Given the description of an element on the screen output the (x, y) to click on. 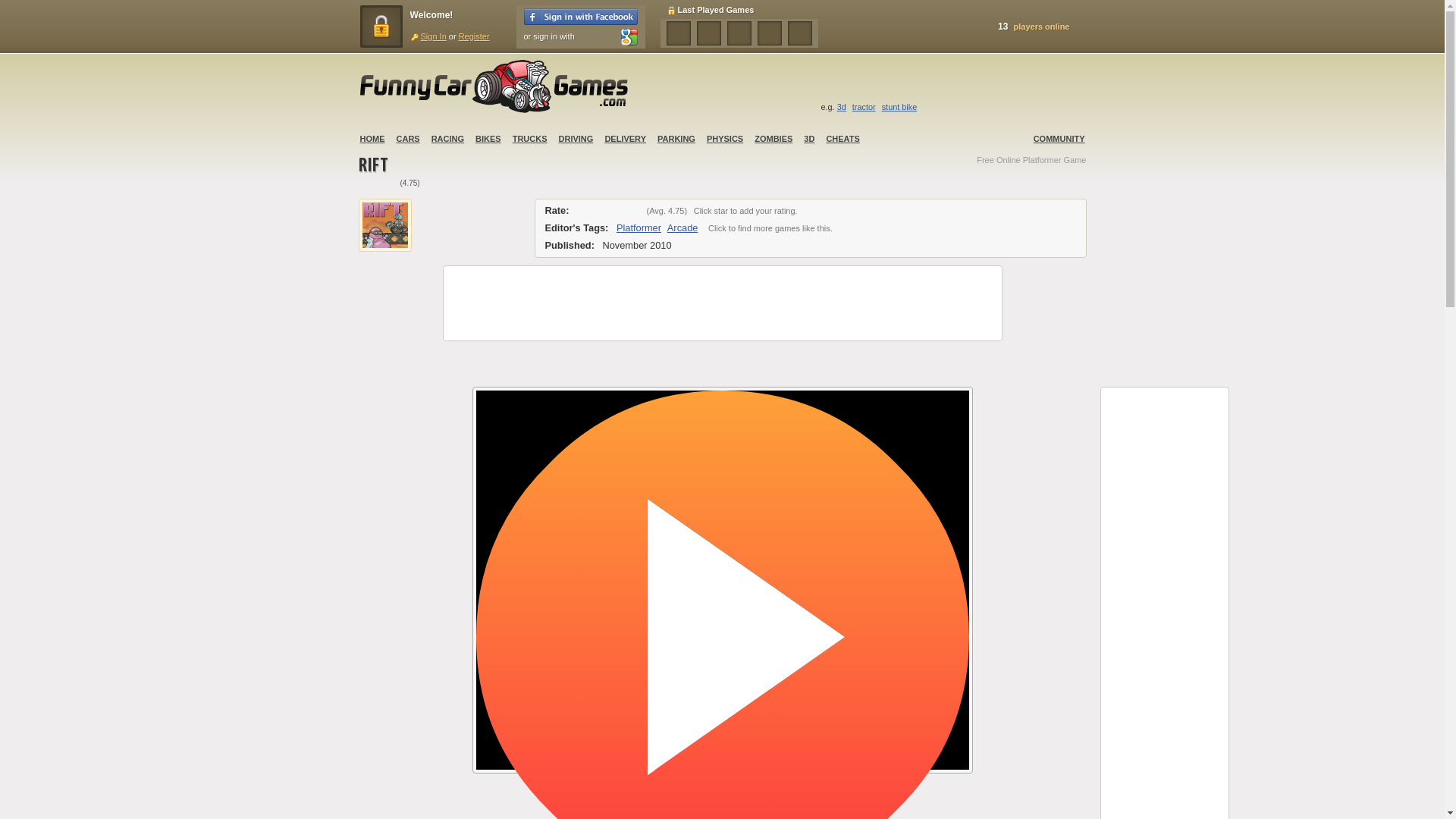
RACING (447, 138)
1 (581, 210)
Arcade (682, 227)
2 (592, 210)
Platformer (638, 227)
Search (1069, 87)
tractor (863, 106)
DELIVERY (624, 138)
ZOMBIES (773, 138)
Sign In (428, 35)
TRUCKS (529, 138)
PARKING (675, 138)
5 (632, 210)
RIFT (373, 167)
COMMUNITY (1059, 138)
